Given the description of an element on the screen output the (x, y) to click on. 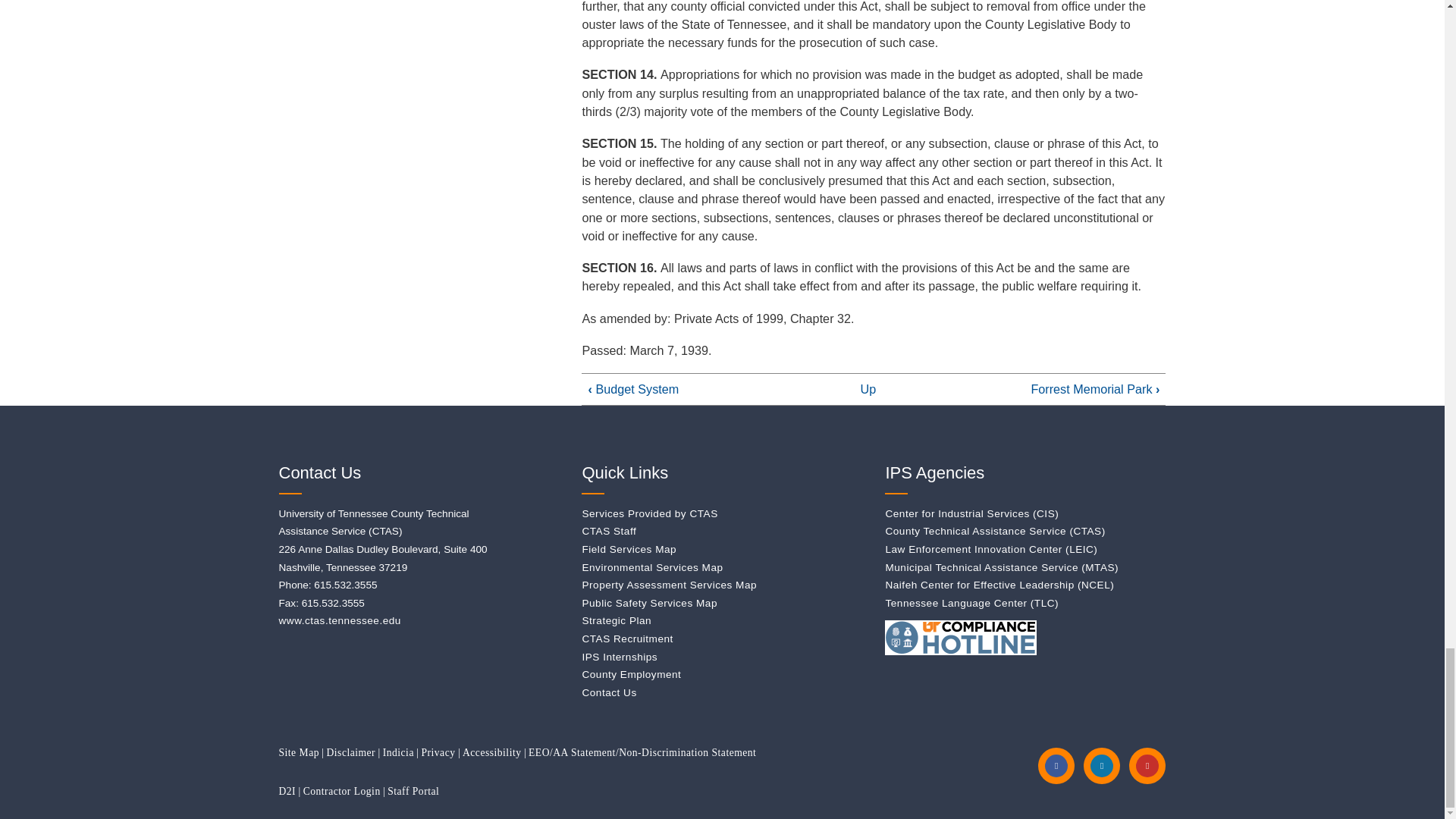
Go to previous page (633, 388)
Go to parent page (868, 388)
Go to next page (1094, 388)
